Given the description of an element on the screen output the (x, y) to click on. 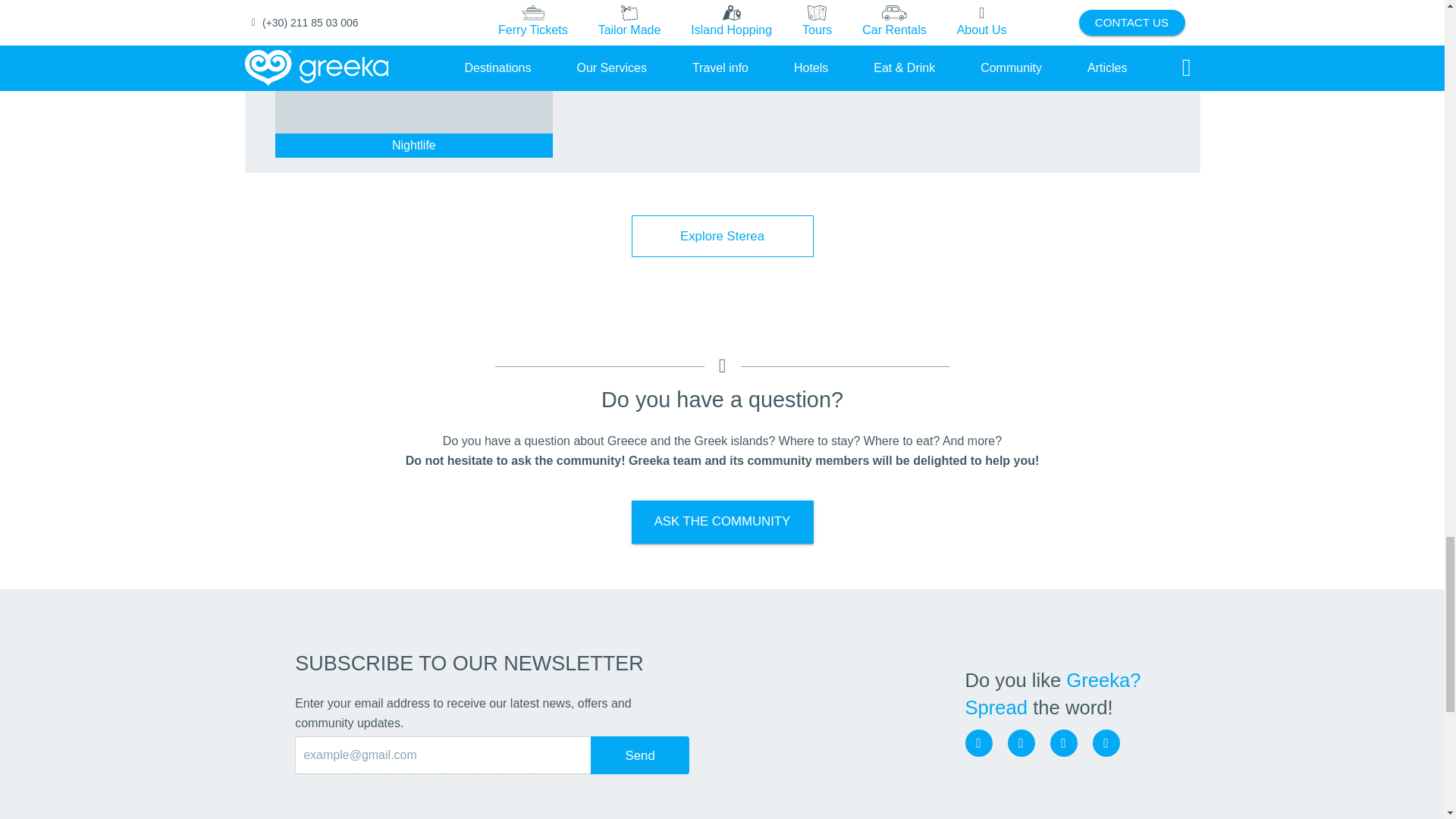
Send (639, 754)
